Given the description of an element on the screen output the (x, y) to click on. 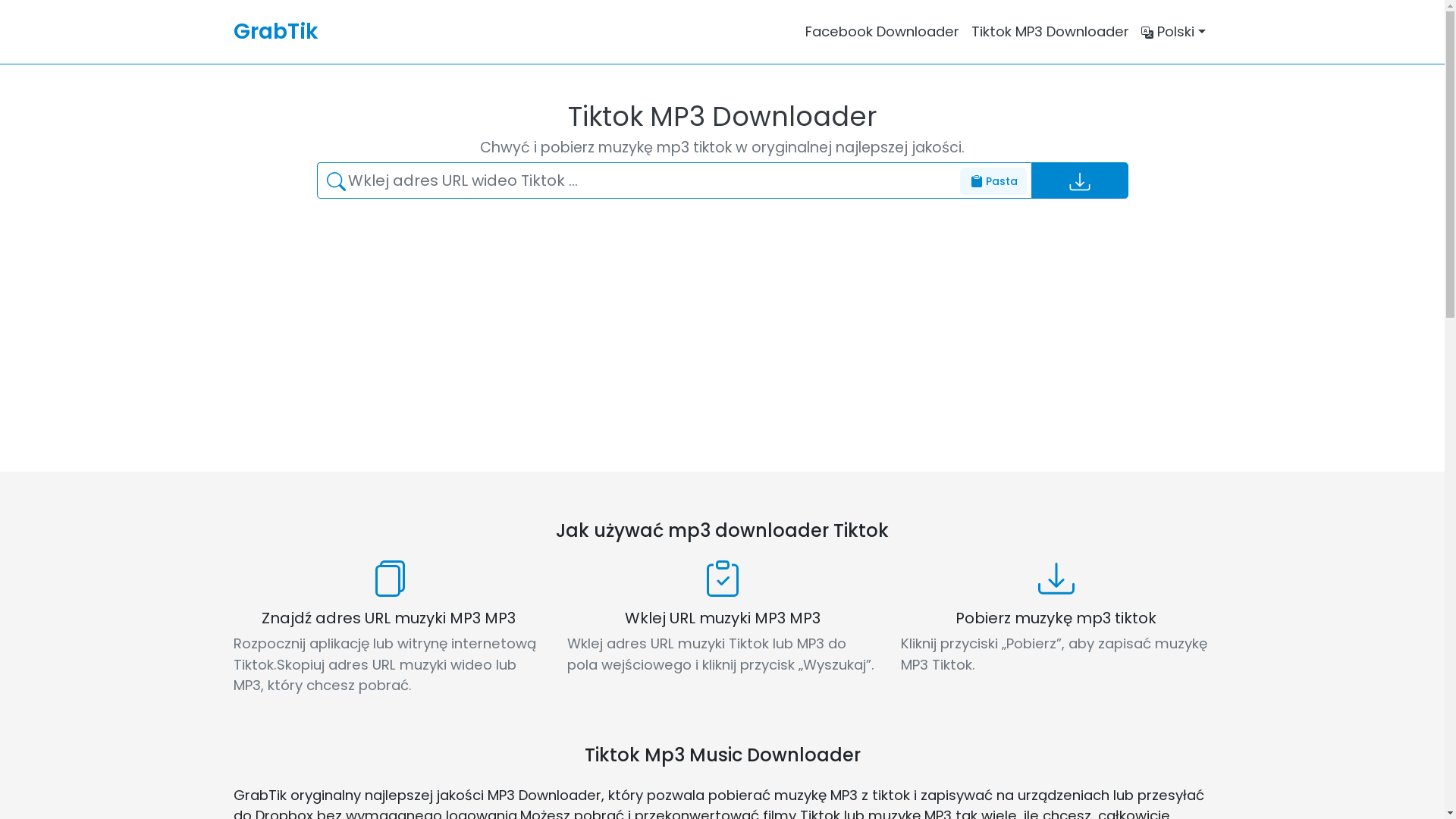
Tiktok MP3 Downloader Element type: text (1050, 31)
Pasta Element type: text (993, 180)
GrabTik Element type: text (275, 31)
Polski Element type: text (1173, 31)
Facebook Downloader Element type: text (882, 31)
Advertisement Element type: hover (699, 322)
